Given the description of an element on the screen output the (x, y) to click on. 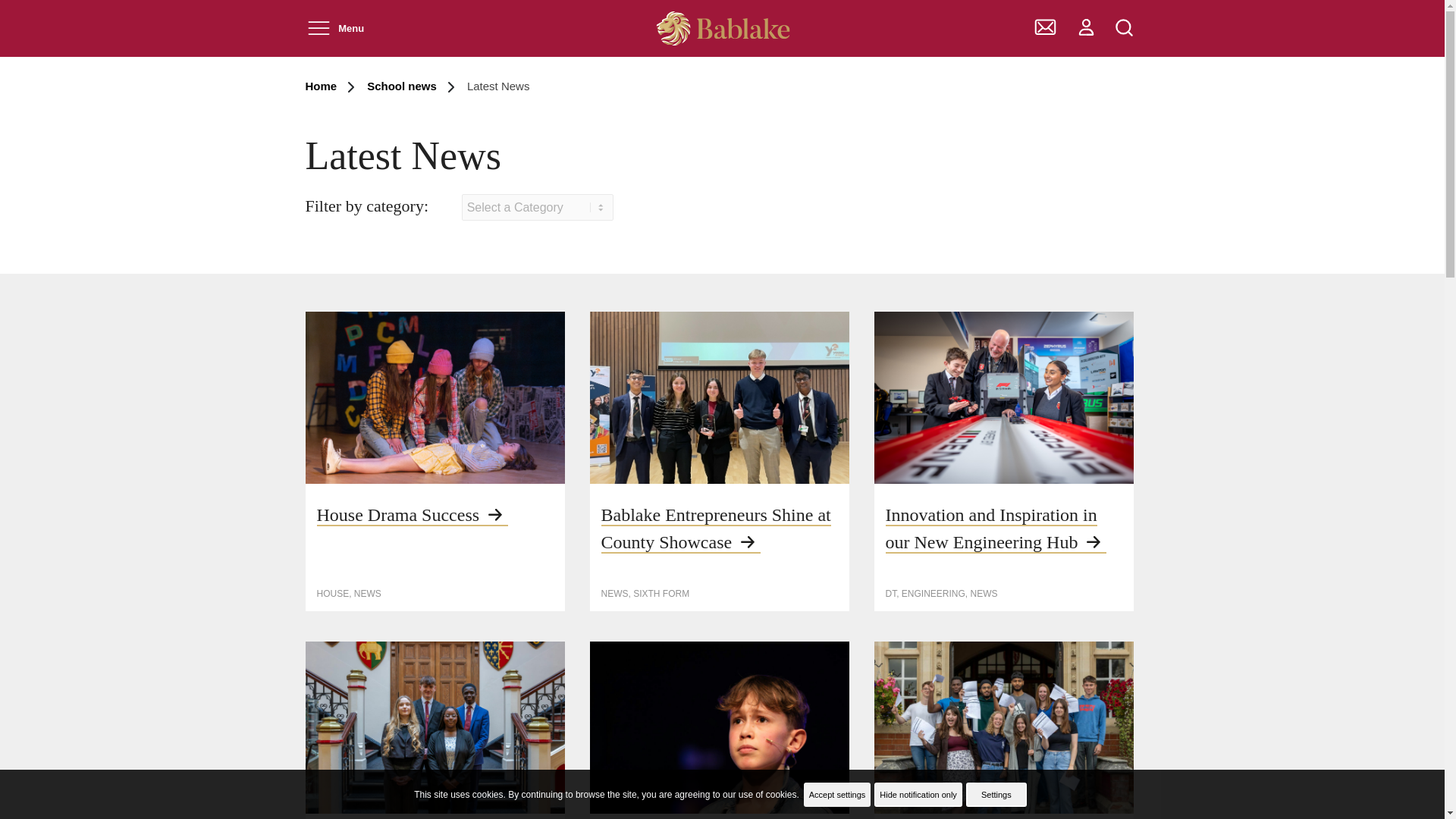
Bablake Entrepreneurs Shine at County Showcase (714, 529)
Innovation and Inspiration in our New Engineering Hub (995, 529)
Bablake Entrepreneurs Shine at County Showcase (718, 397)
Congratulations to our Fabulous Four (434, 727)
Every single A Level passed at Bablake School (1002, 727)
logo (722, 28)
House Drama Success (412, 515)
House Drama Success (434, 397)
Innovation and Inspiration in our New Engineering Hub (1002, 397)
logo (722, 28)
